Given the description of an element on the screen output the (x, y) to click on. 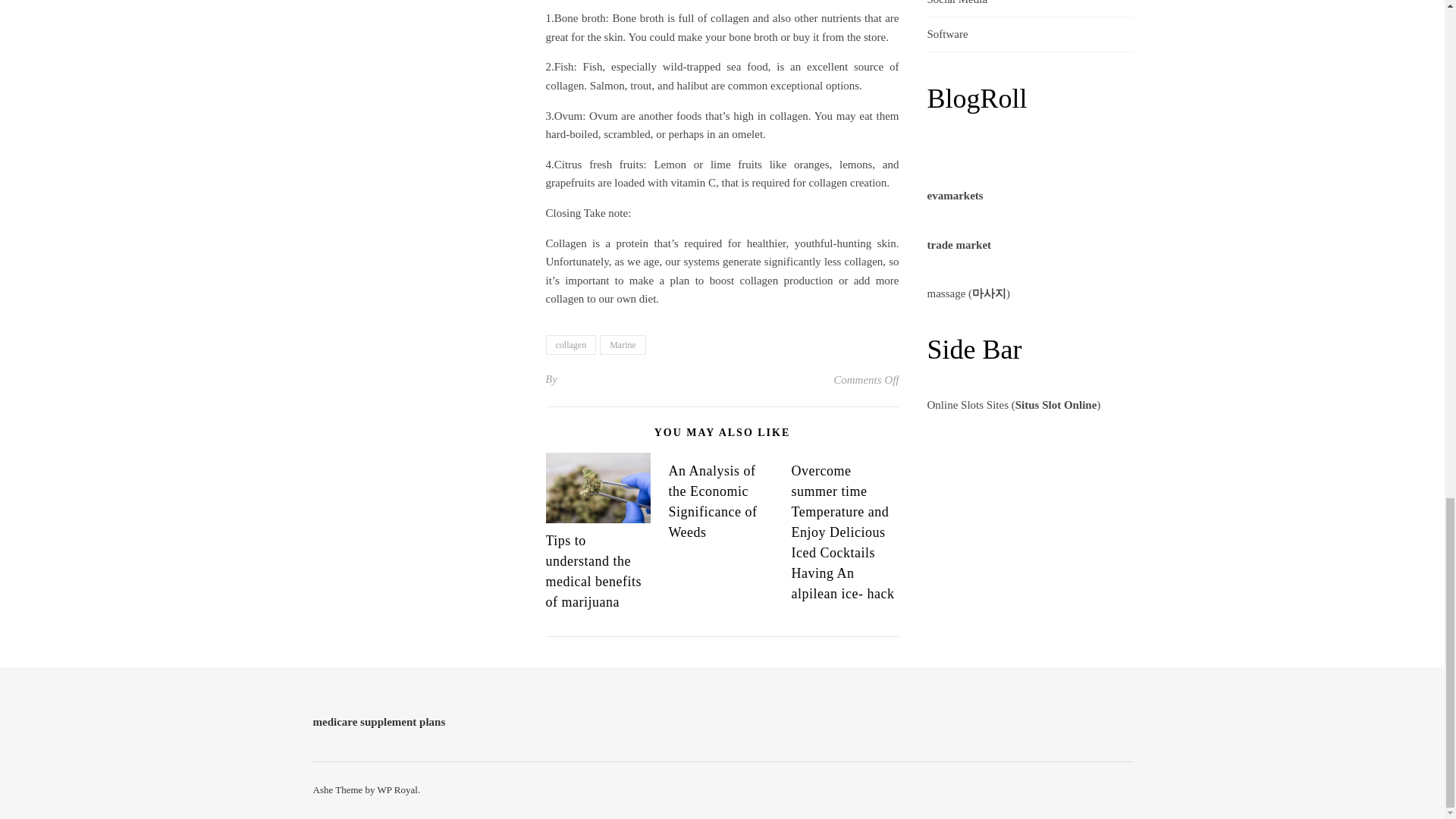
Software (947, 34)
Tips to understand the medical benefits of marijuana (594, 571)
collagen (571, 344)
evamarkets (954, 195)
Marine (622, 344)
Social Media (956, 8)
An Analysis of the Economic Significance of Weeds (712, 501)
